Given the description of an element on the screen output the (x, y) to click on. 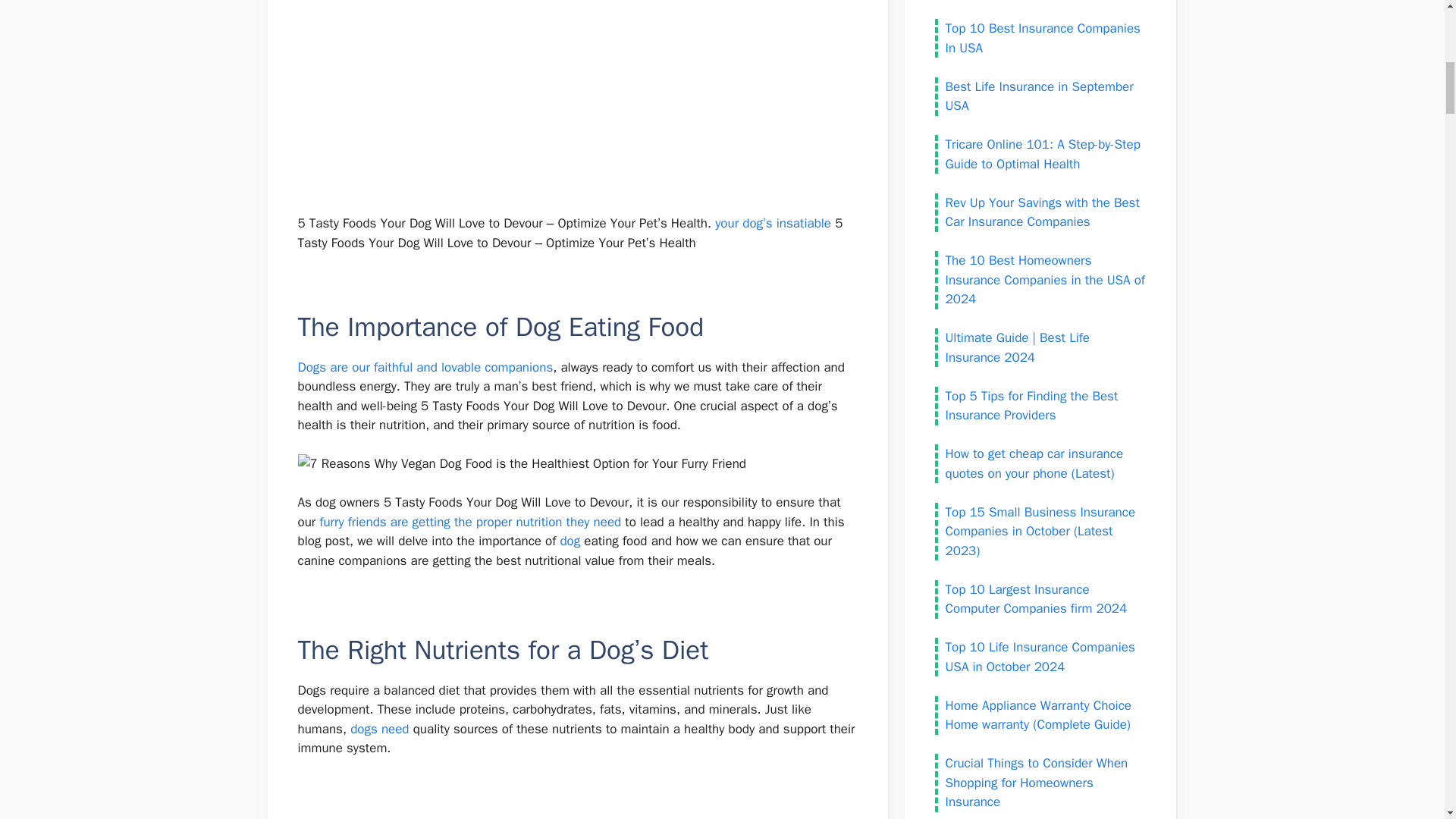
furry friends are getting the proper nutrition they need (469, 521)
dogs need (379, 729)
dog food (392, 818)
dog (569, 540)
Dogs are our faithful and lovable companions (425, 367)
